Given the description of an element on the screen output the (x, y) to click on. 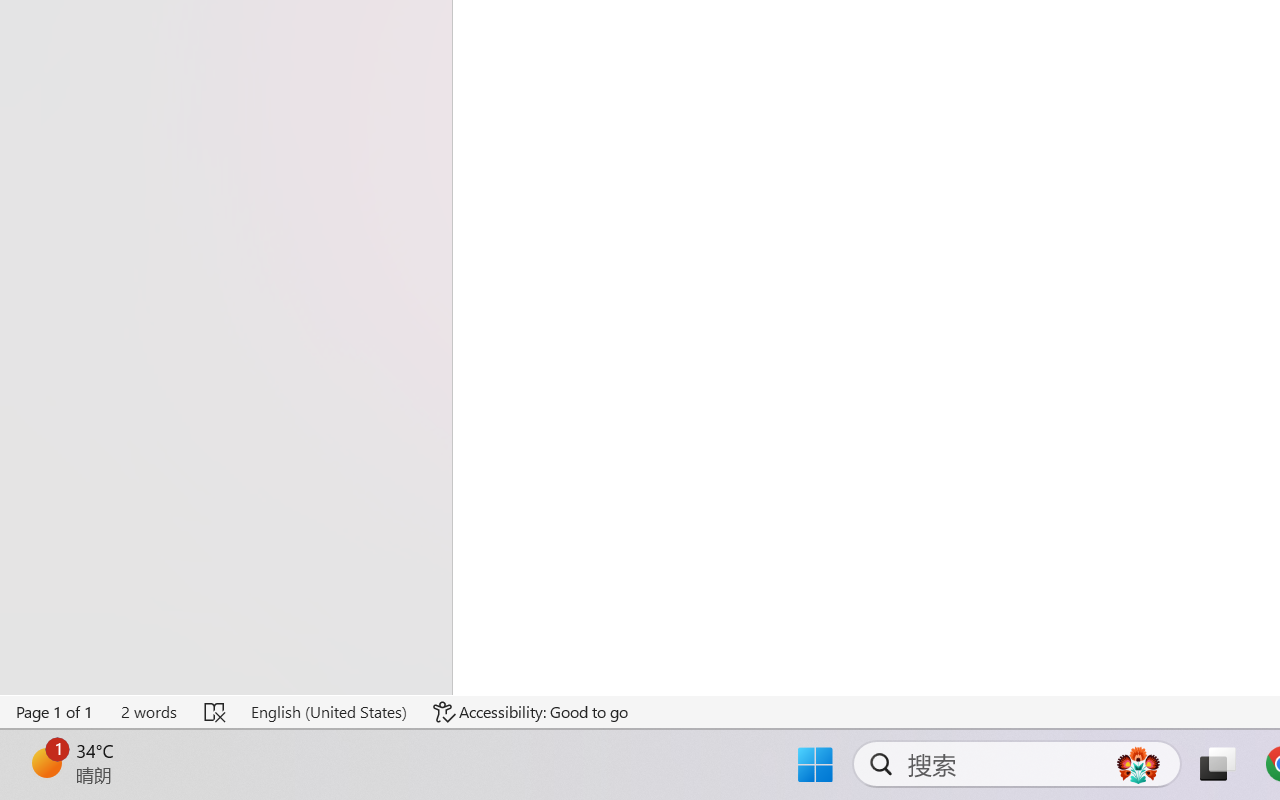
Spelling and Grammar Check Errors (216, 712)
